Given the description of an element on the screen output the (x, y) to click on. 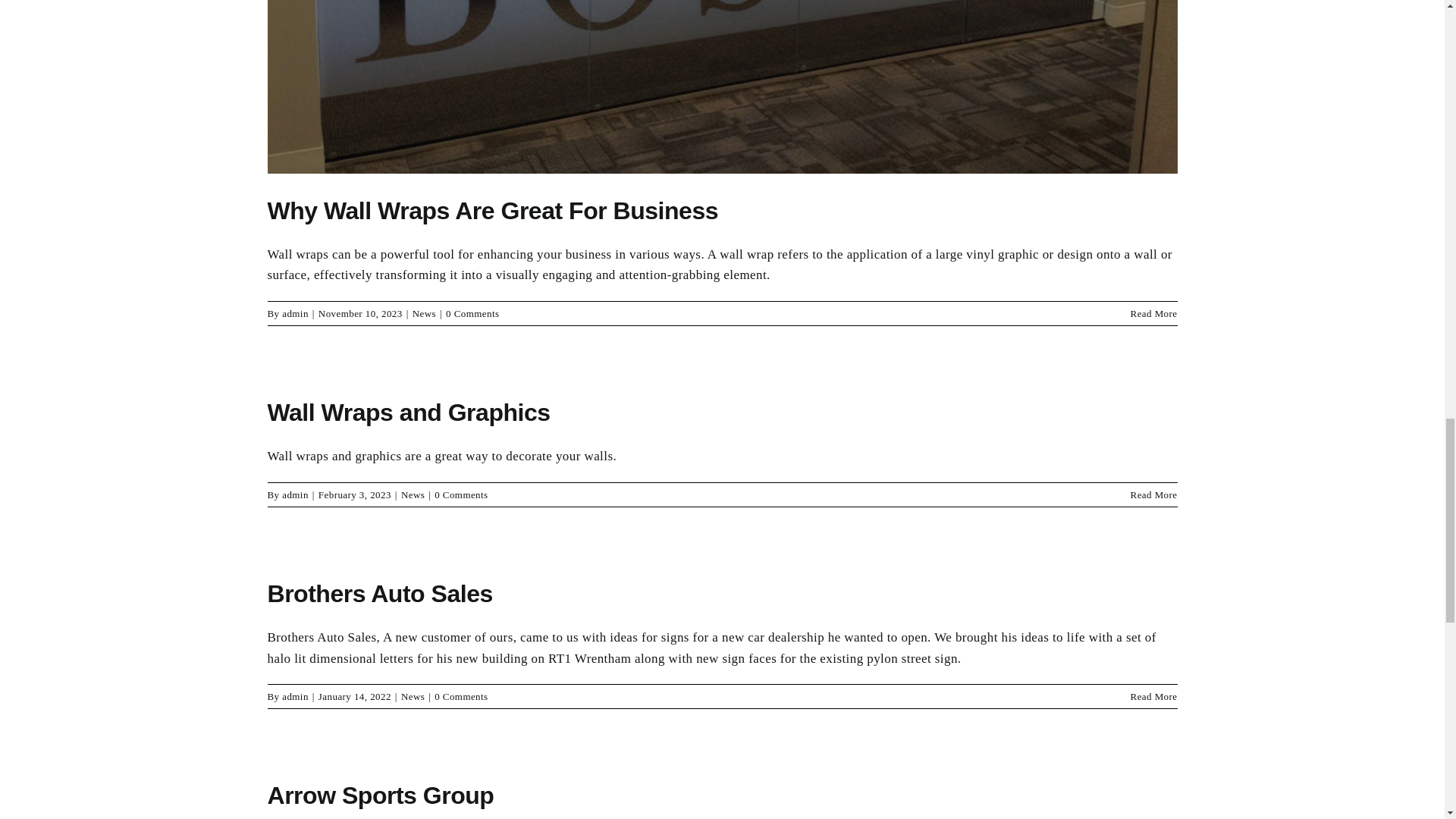
Posts by admin (295, 313)
Posts by admin (295, 696)
Posts by admin (295, 494)
